Given the description of an element on the screen output the (x, y) to click on. 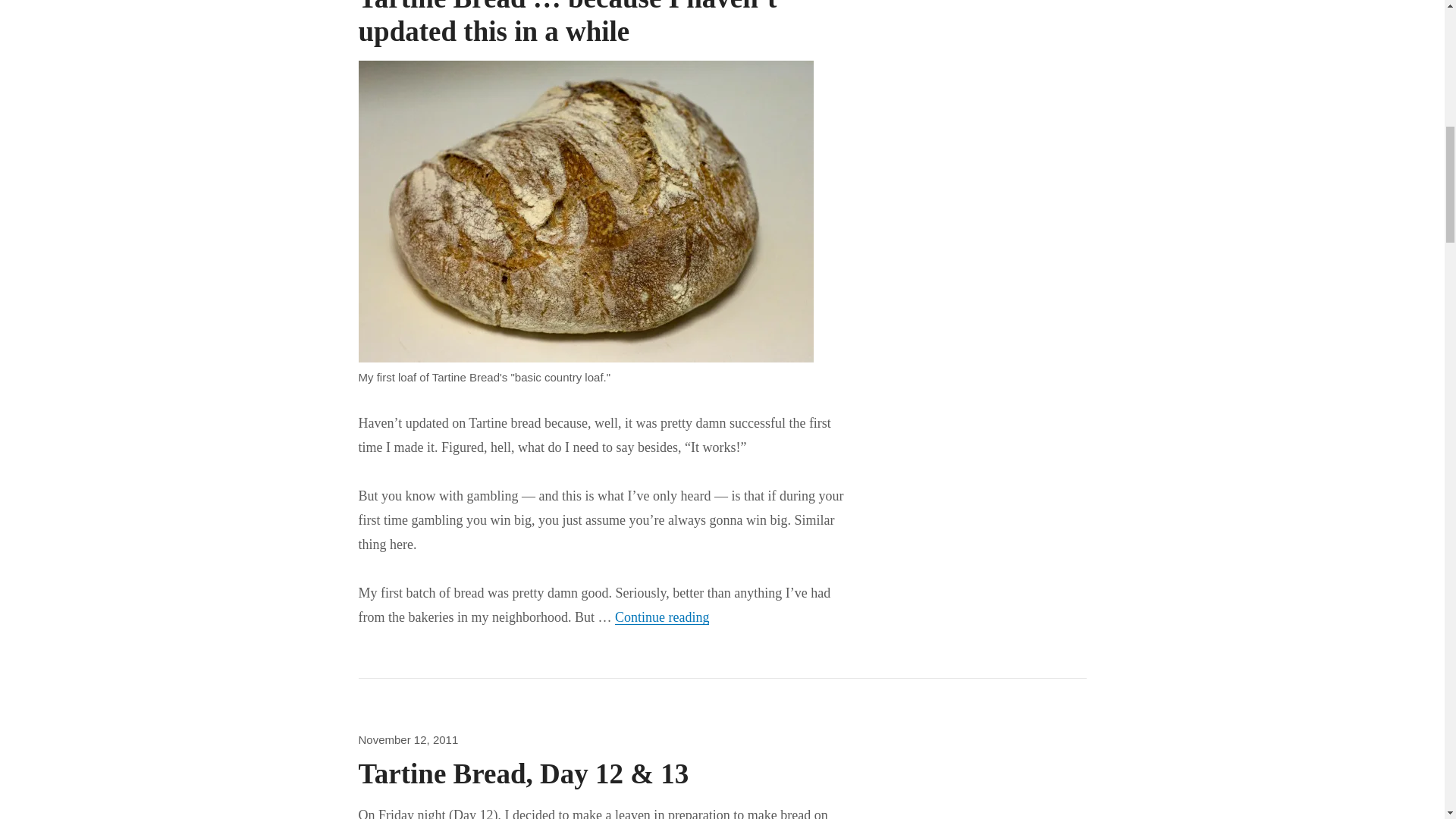
November 12, 2011 (408, 739)
